Given the description of an element on the screen output the (x, y) to click on. 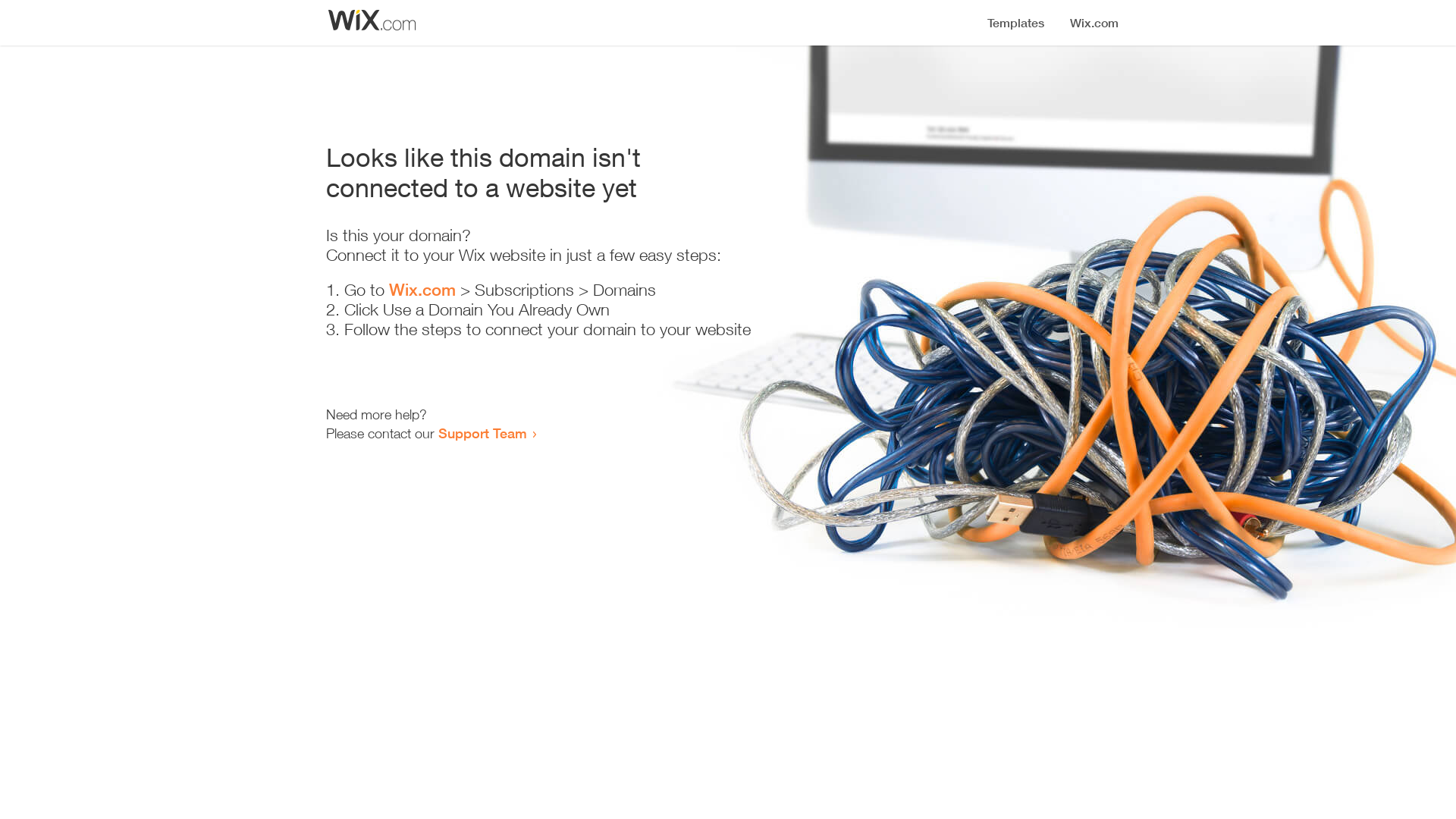
Support Team Element type: text (482, 432)
Wix.com Element type: text (422, 289)
